Given the description of an element on the screen output the (x, y) to click on. 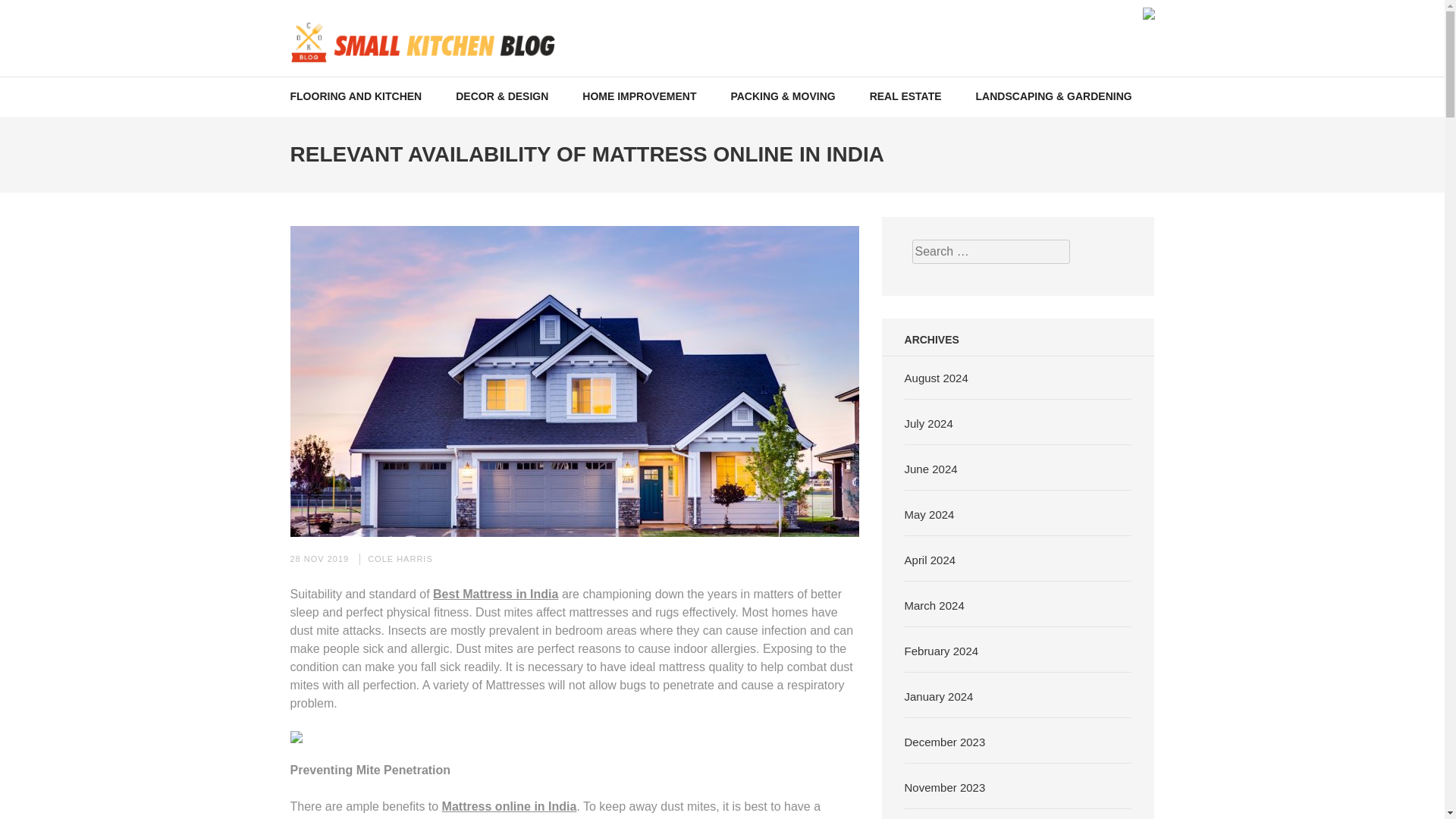
HOME IMPROVEMENT (638, 96)
SMALL KITCHEN BLOG (443, 79)
Best Mattress in India (494, 594)
COLE HARRIS (400, 558)
Search (1428, 19)
REAL ESTATE (905, 96)
FLOORING AND KITCHEN (355, 96)
28 NOV 2019 (319, 558)
Mattress online in India (509, 806)
